Given the description of an element on the screen output the (x, y) to click on. 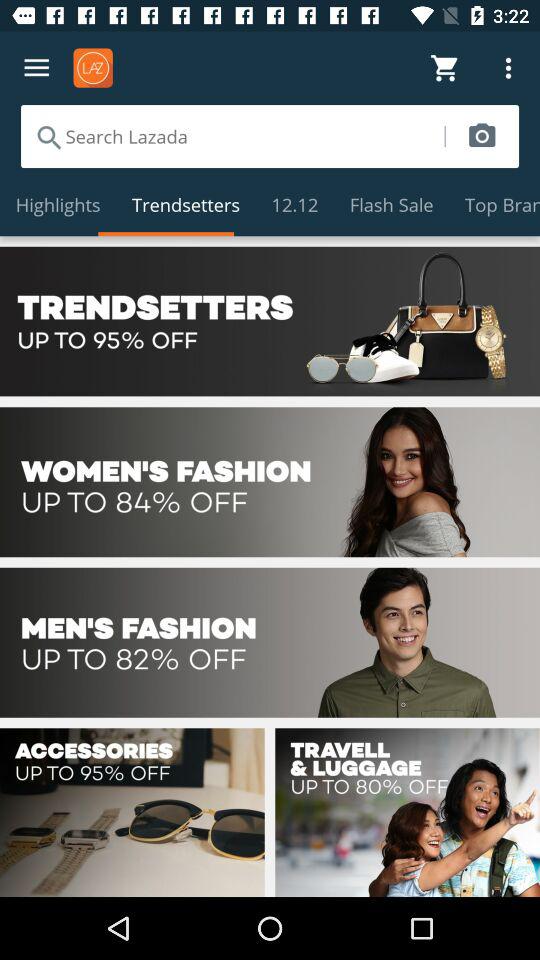
search store (232, 136)
